Given the description of an element on the screen output the (x, y) to click on. 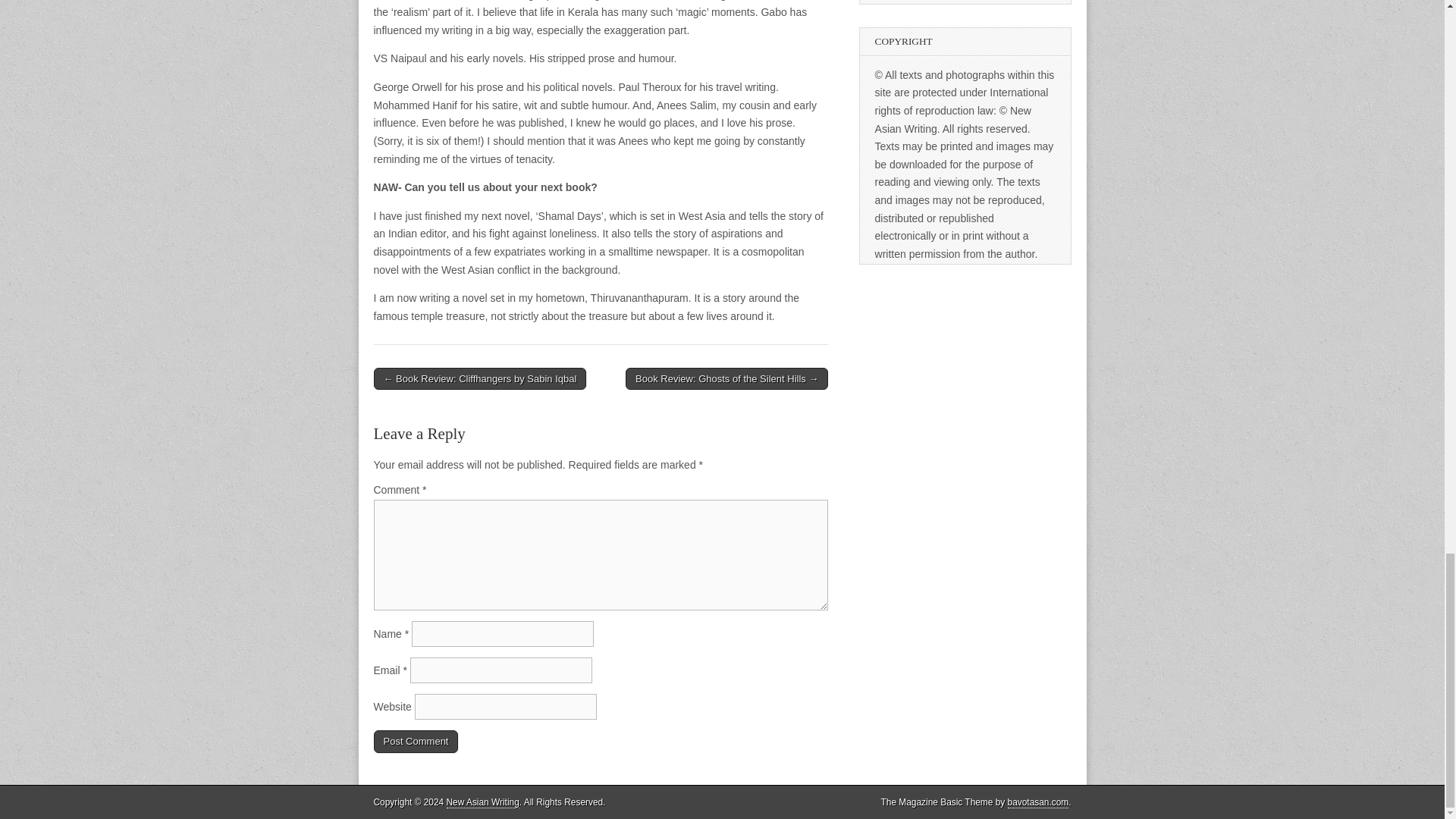
New Asian Writing (482, 802)
Post Comment (415, 741)
Post Comment (415, 741)
bavotasan.com (1037, 802)
